Given the description of an element on the screen output the (x, y) to click on. 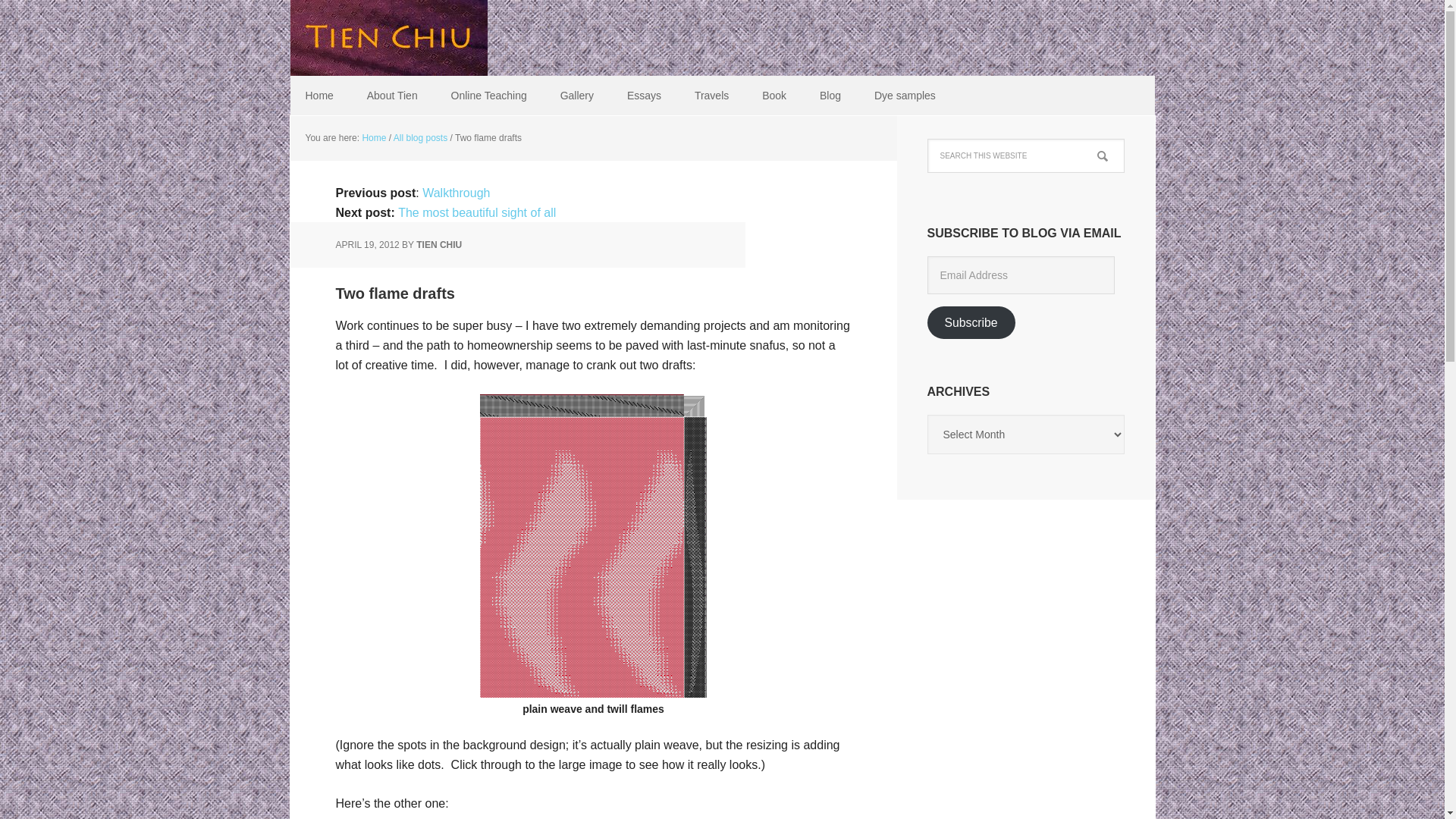
Gallery (576, 96)
TIEN CHIU (438, 244)
Home (318, 96)
About Tien (392, 96)
Subscribe (970, 322)
Walkthrough (455, 192)
The most beautiful sight of all (476, 212)
Book (774, 96)
Online Teaching (488, 96)
